Given the description of an element on the screen output the (x, y) to click on. 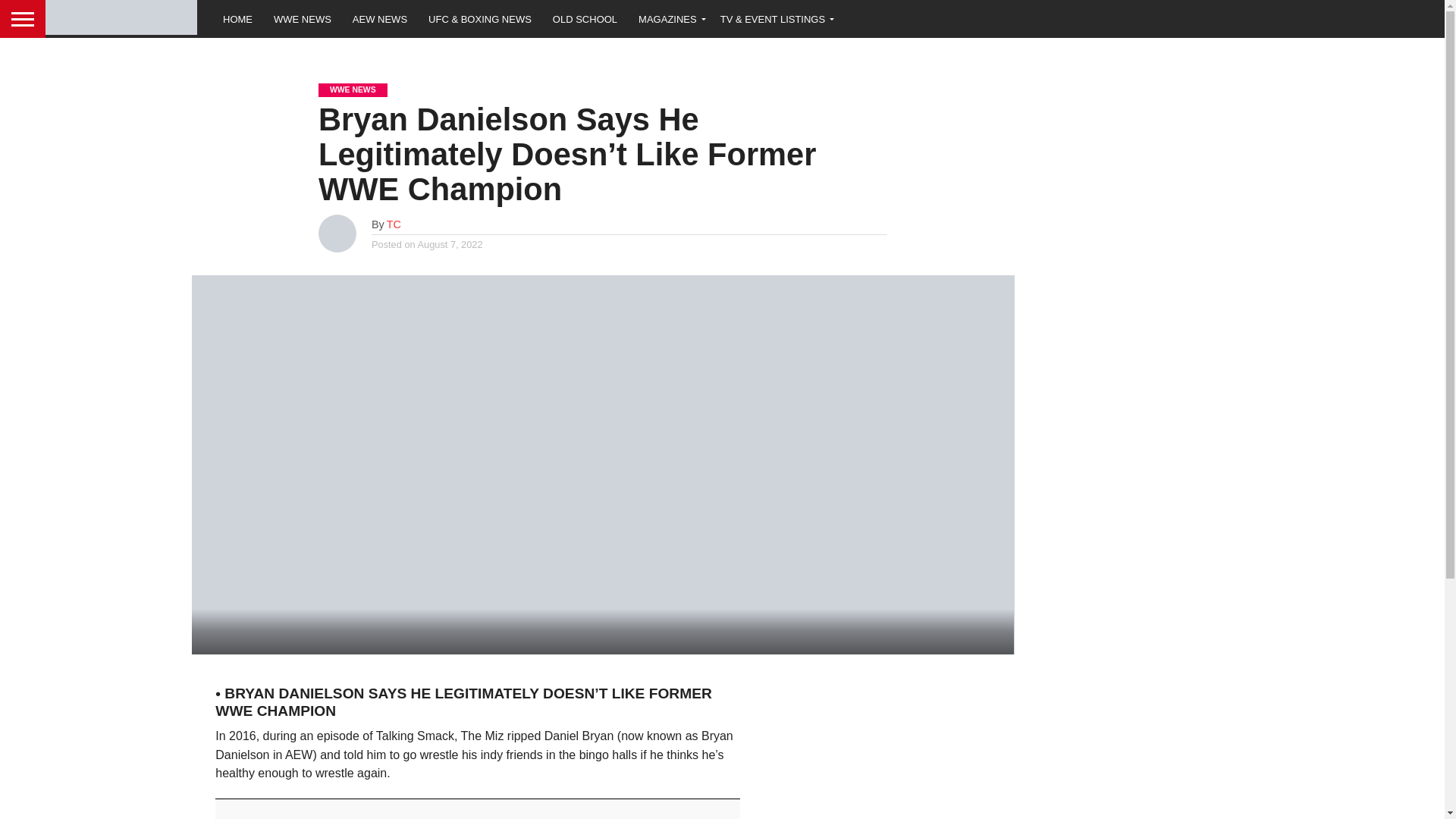
AEW NEWS (379, 18)
OLD SCHOOL (584, 18)
MAGAZINES (668, 18)
WWE NEWS (302, 18)
Posts by TC (394, 224)
HOME (237, 18)
